Given the description of an element on the screen output the (x, y) to click on. 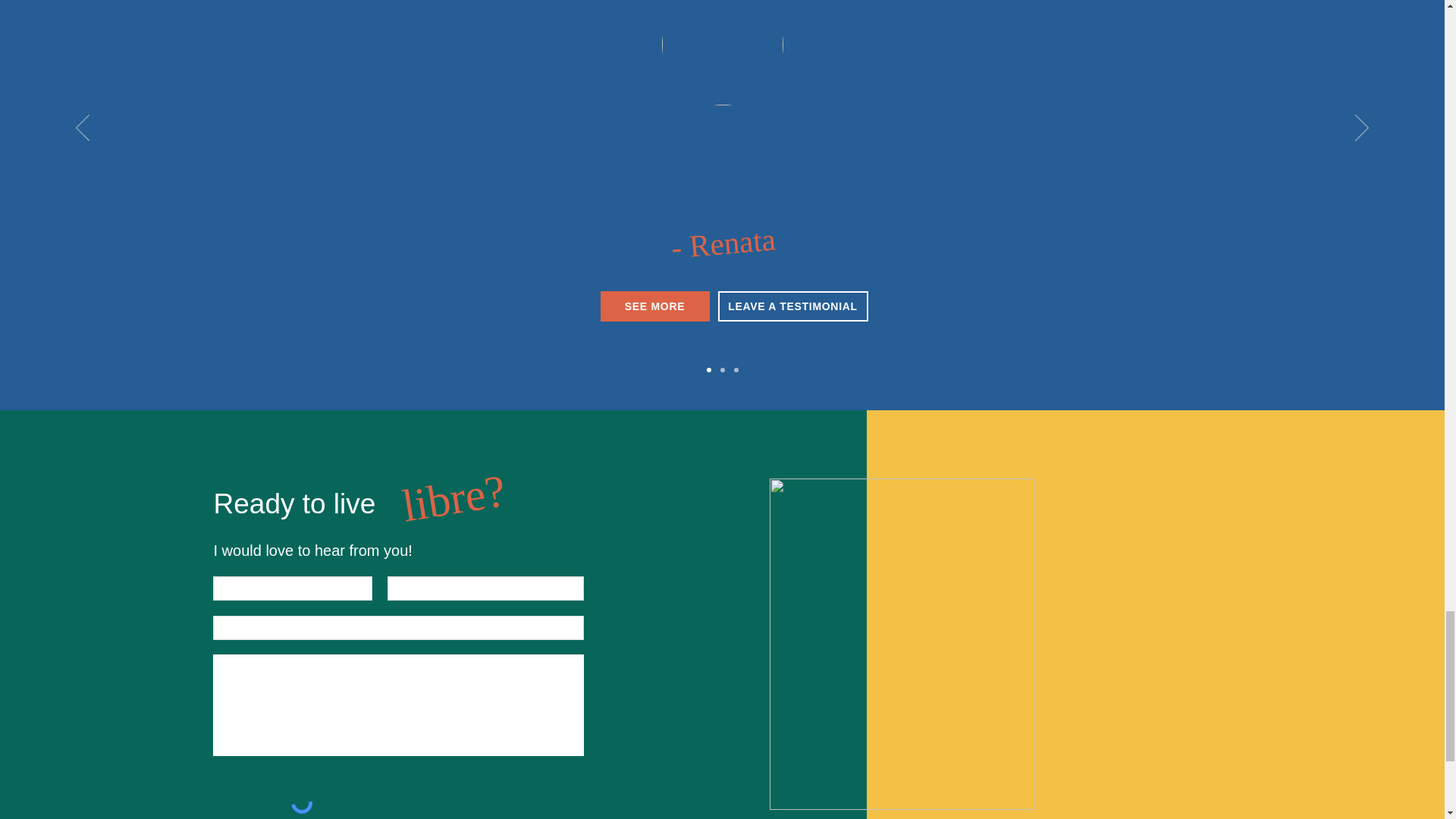
SEE MORE (654, 306)
LEAVE A TESTIMONIAL (792, 306)
Shave.jpg (722, 52)
